Given the description of an element on the screen output the (x, y) to click on. 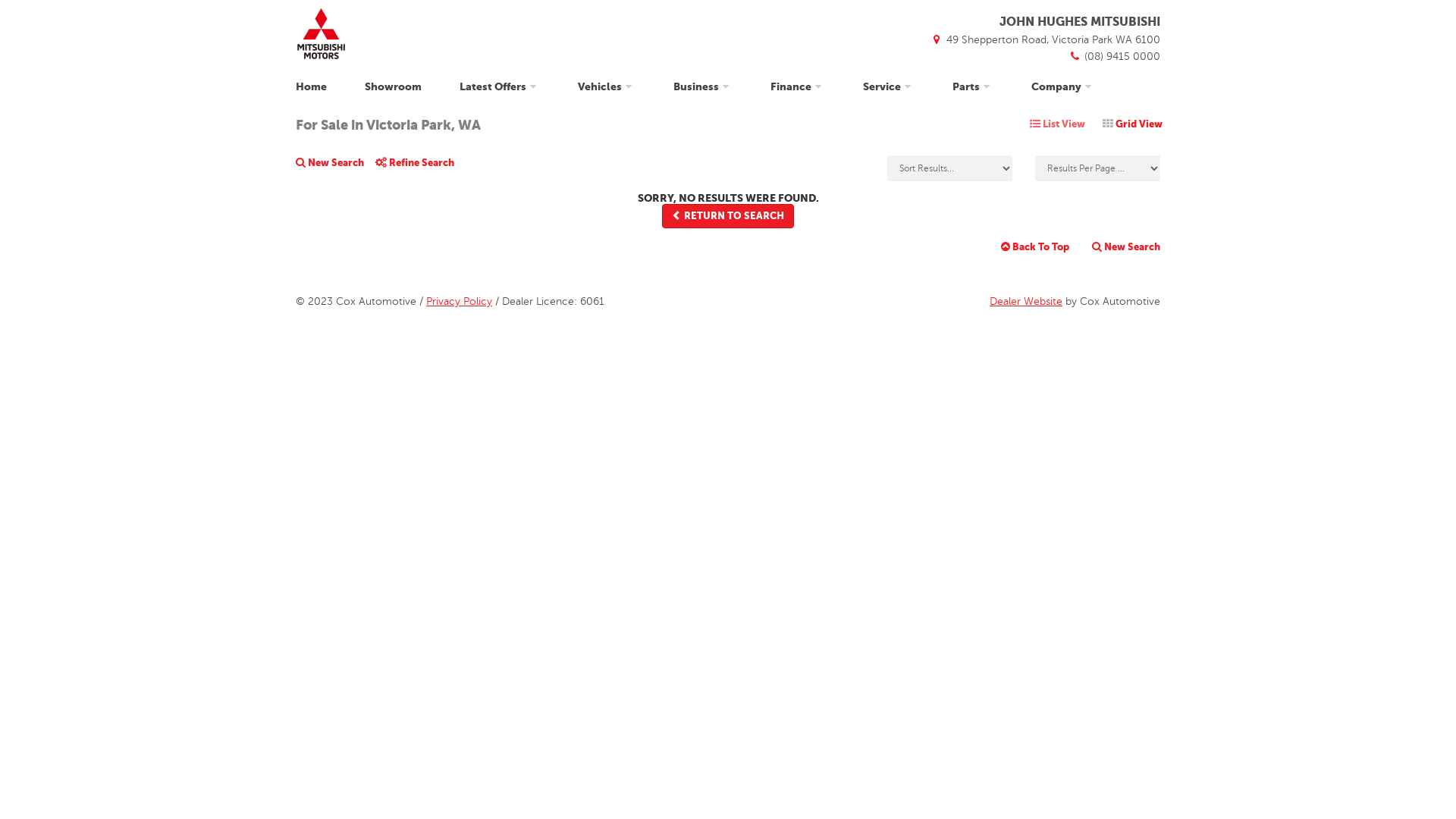
Parts Element type: text (972, 85)
New Search Element type: text (335, 167)
Service Element type: text (888, 85)
Latest Offers Element type: text (499, 85)
Finance Element type: text (797, 85)
Showroom Element type: text (392, 85)
Privacy Policy Element type: text (459, 301)
49 Shepperton Road, Victoria Park WA 6100 Element type: text (1044, 38)
Grid View Element type: text (1132, 123)
Business Element type: text (702, 85)
Dealer Website Element type: text (1025, 301)
(08) 9415 0000 Element type: text (1113, 56)
List View Element type: text (1057, 123)
RETURN TO SEARCH Element type: text (727, 216)
New Search Element type: text (1120, 247)
Company Element type: text (1062, 85)
Refine Search Element type: text (420, 167)
Home Element type: text (312, 85)
Back To Top Element type: text (1034, 247)
Vehicles Element type: text (606, 85)
